Given the description of an element on the screen output the (x, y) to click on. 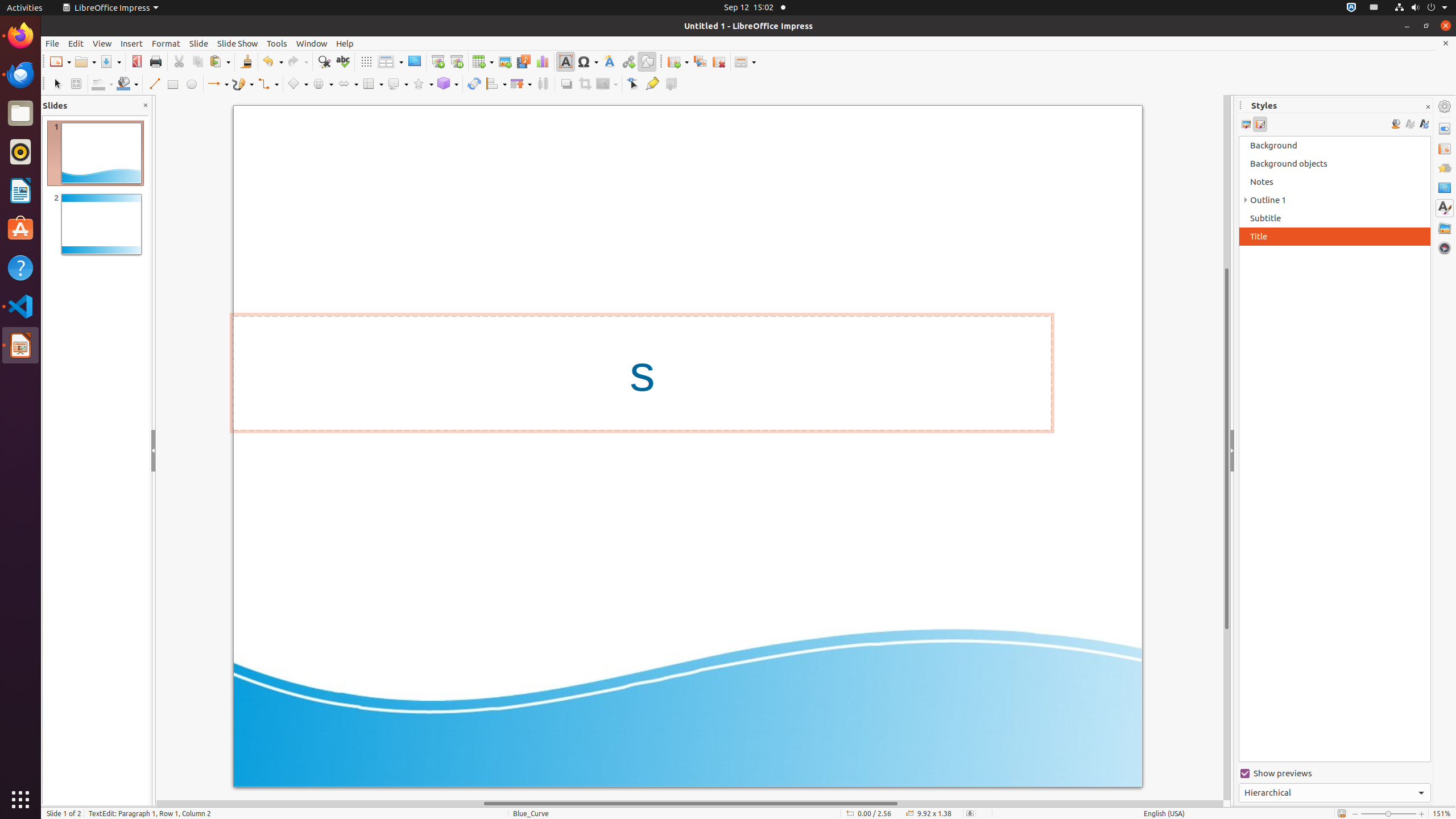
Symbol Shapes Element type: push-button (321, 83)
Curves and Polygons Element type: push-button (242, 83)
Close Pane Element type: push-button (145, 105)
Display Views Element type: push-button (389, 61)
Hyperlink Element type: toggle-button (627, 61)
